Given the description of an element on the screen output the (x, y) to click on. 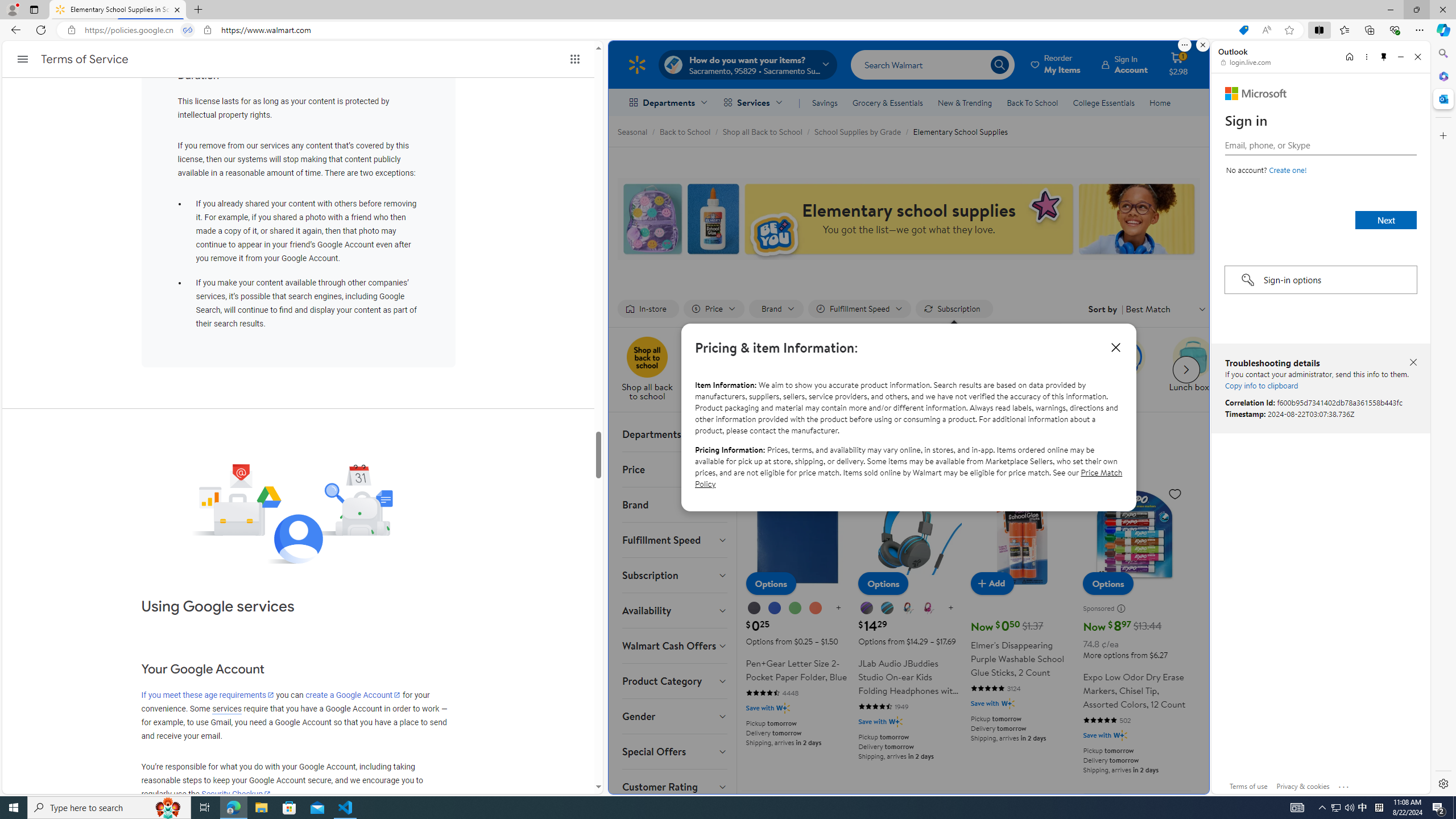
Tabs in split screen (187, 29)
login.live.com (1246, 61)
Create a Microsoft account (1287, 169)
Close split screen. (1202, 45)
Copy info to clipboard (1261, 384)
Microsoft (1255, 93)
Terms of use (1249, 785)
